Given the description of an element on the screen output the (x, y) to click on. 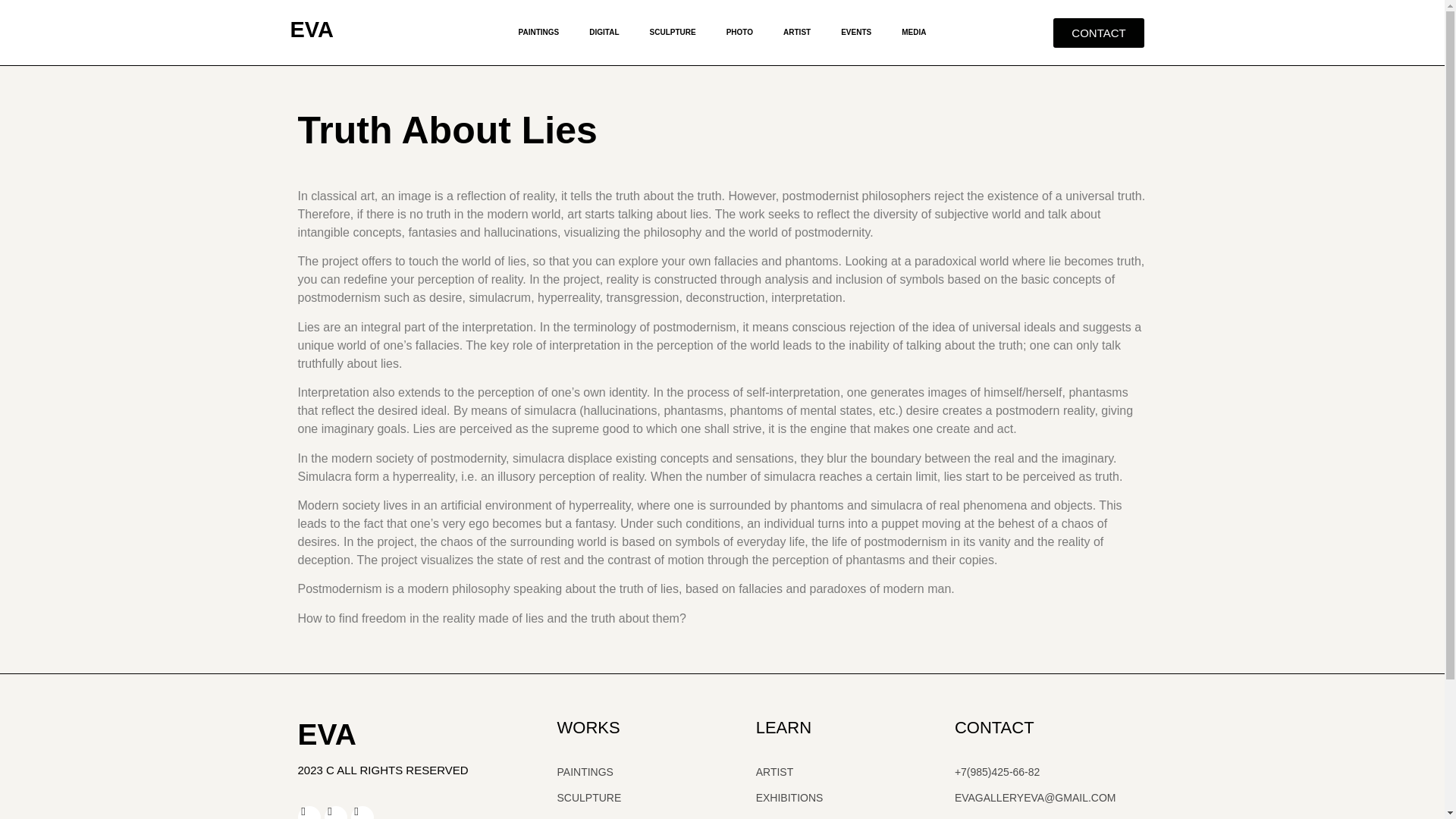
CONTACT (1097, 32)
SCULPTURE (672, 32)
PAINTINGS (539, 32)
DIGITAL (603, 32)
EVA (311, 29)
MEDIA (913, 32)
ARTIST (796, 32)
EVENTS (855, 32)
PHOTO (739, 32)
